Given the description of an element on the screen output the (x, y) to click on. 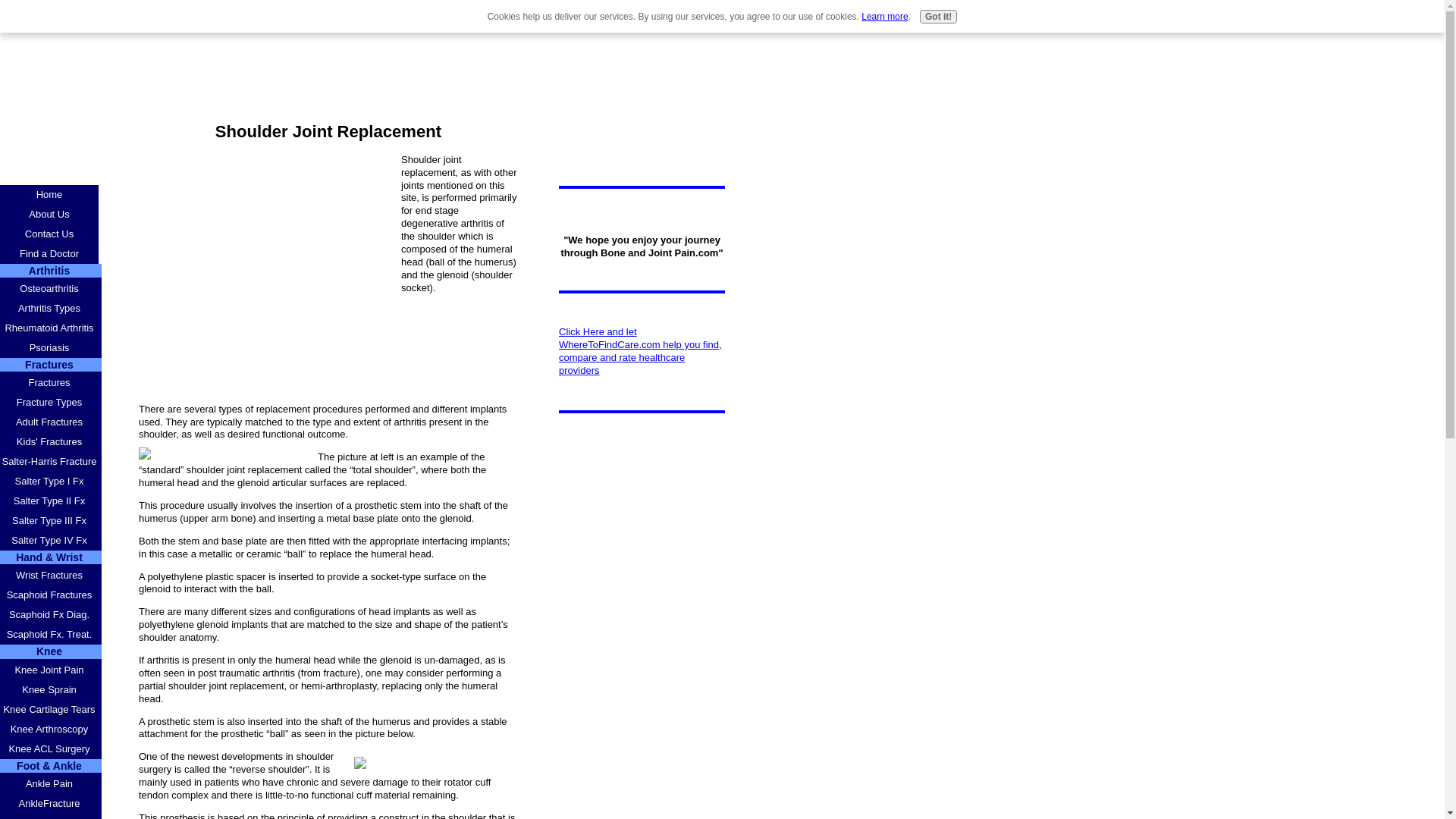
Contact Us (49, 234)
Fractures (50, 383)
Rheumatoid Arthritis (50, 328)
About Us (49, 214)
Find a Doctor (49, 253)
AnkleFracture (50, 803)
Arthritis Types (50, 308)
Salter Type III Fx (50, 520)
Osteoarthritis (50, 288)
Adult Fractures (50, 422)
Kids' Fractures (50, 442)
Salter-Harris Fracture (50, 461)
Knee Joint Pain (50, 670)
Knee Arthroscopy (50, 729)
Ankle Pain (50, 783)
